Given the description of an element on the screen output the (x, y) to click on. 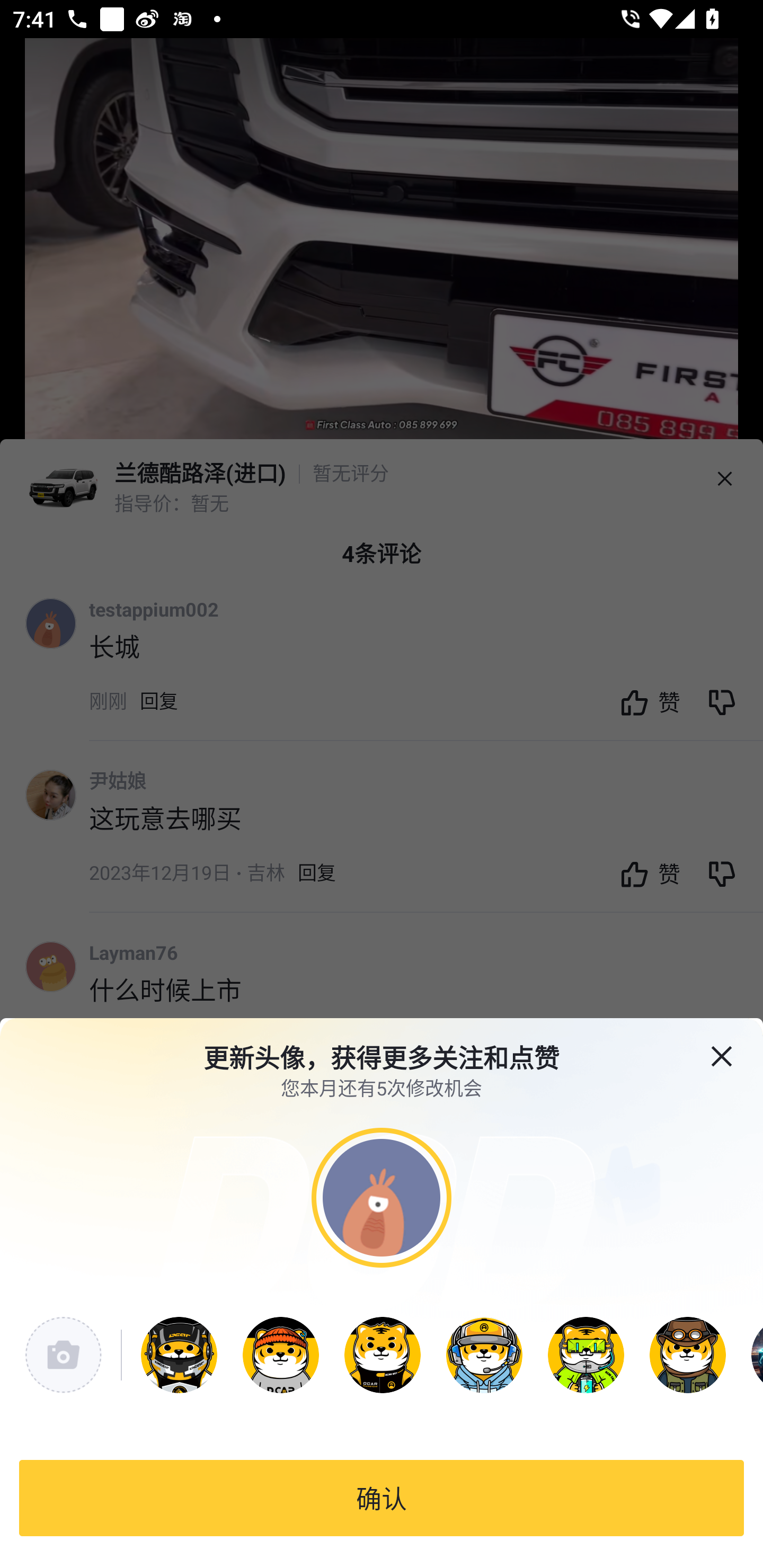
 (734, 1044)
确认 (381, 1497)
